Given the description of an element on the screen output the (x, y) to click on. 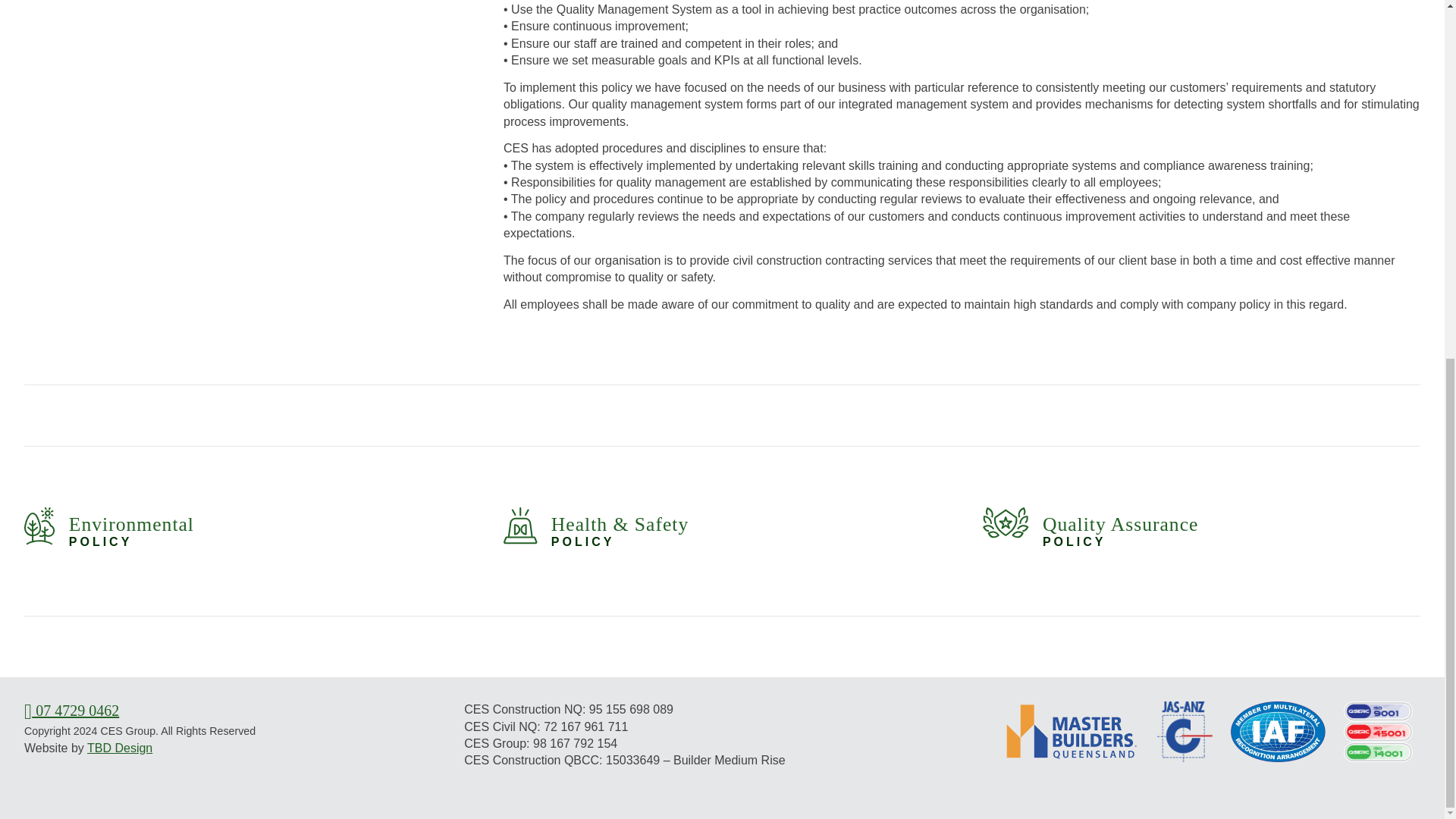
Quality Assurance Policy (1090, 528)
Environmental Policy (108, 530)
07 4729 0462 (108, 530)
TBD Design (71, 710)
